Given the description of an element on the screen output the (x, y) to click on. 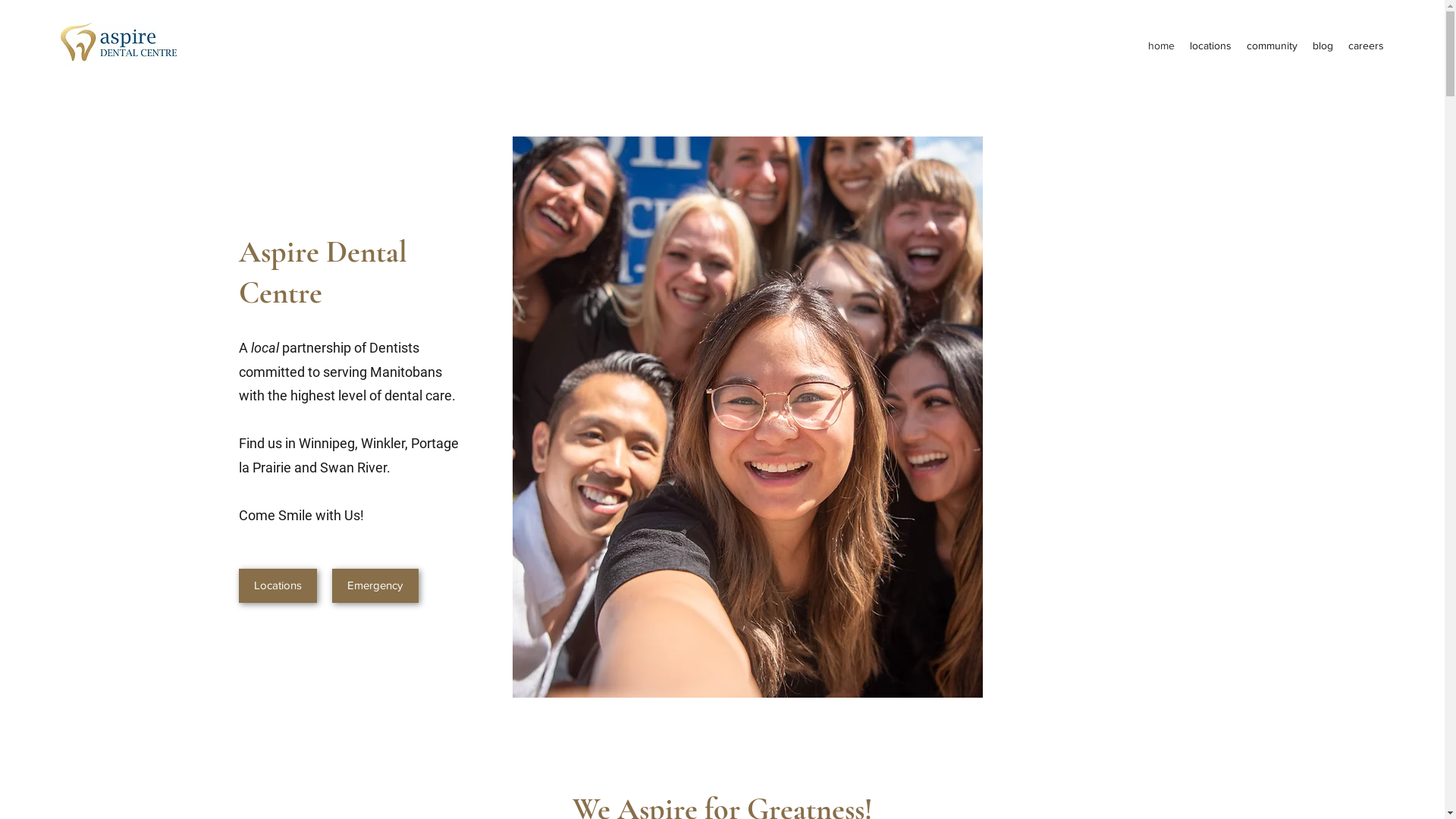
Locations Element type: text (277, 585)
home Element type: text (1161, 45)
careers Element type: text (1365, 45)
community Element type: text (1272, 45)
Emergency Element type: text (375, 585)
blog Element type: text (1322, 45)
locations Element type: text (1210, 45)
